Given the description of an element on the screen output the (x, y) to click on. 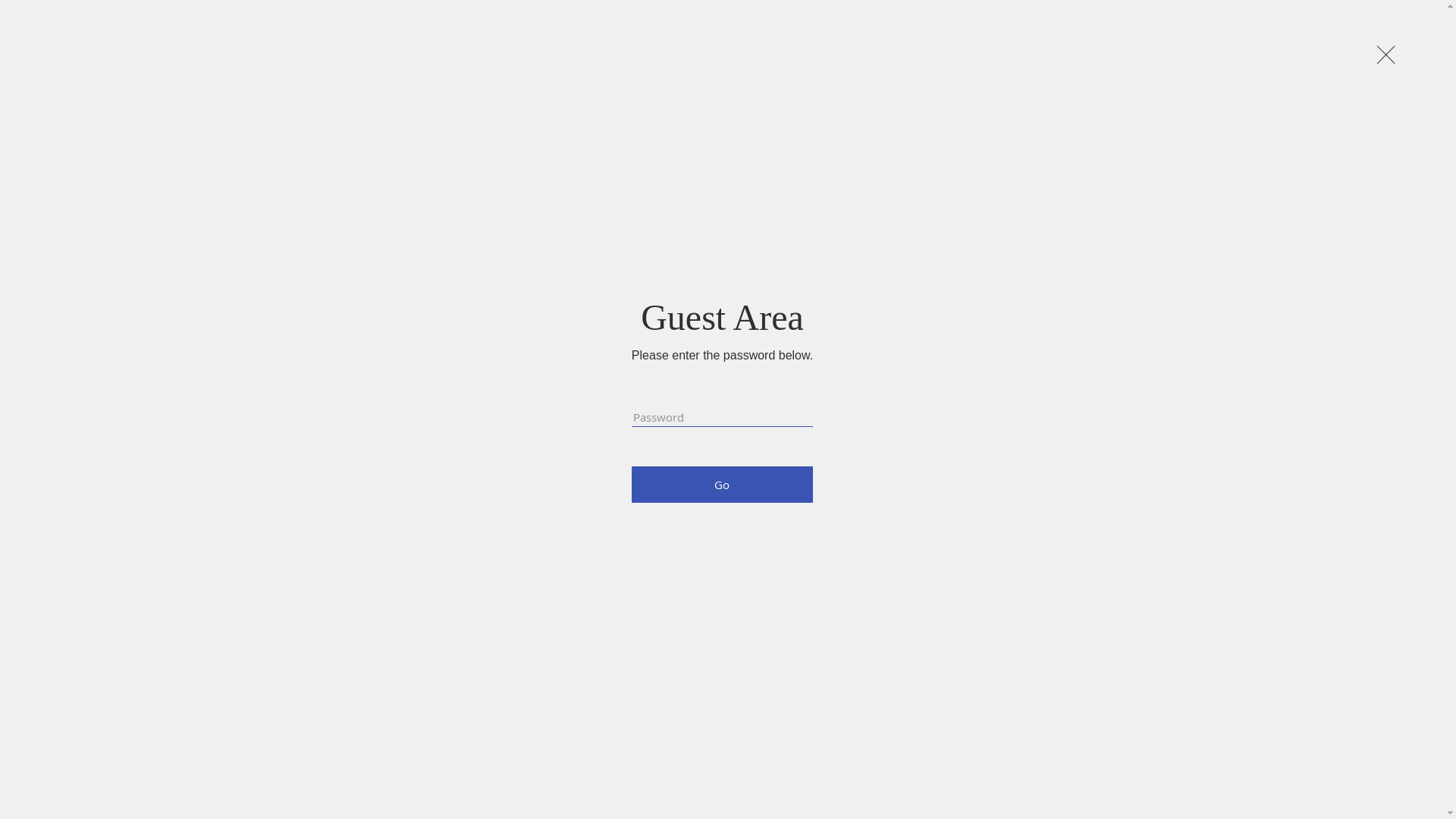
Go Element type: text (721, 484)
